Given the description of an element on the screen output the (x, y) to click on. 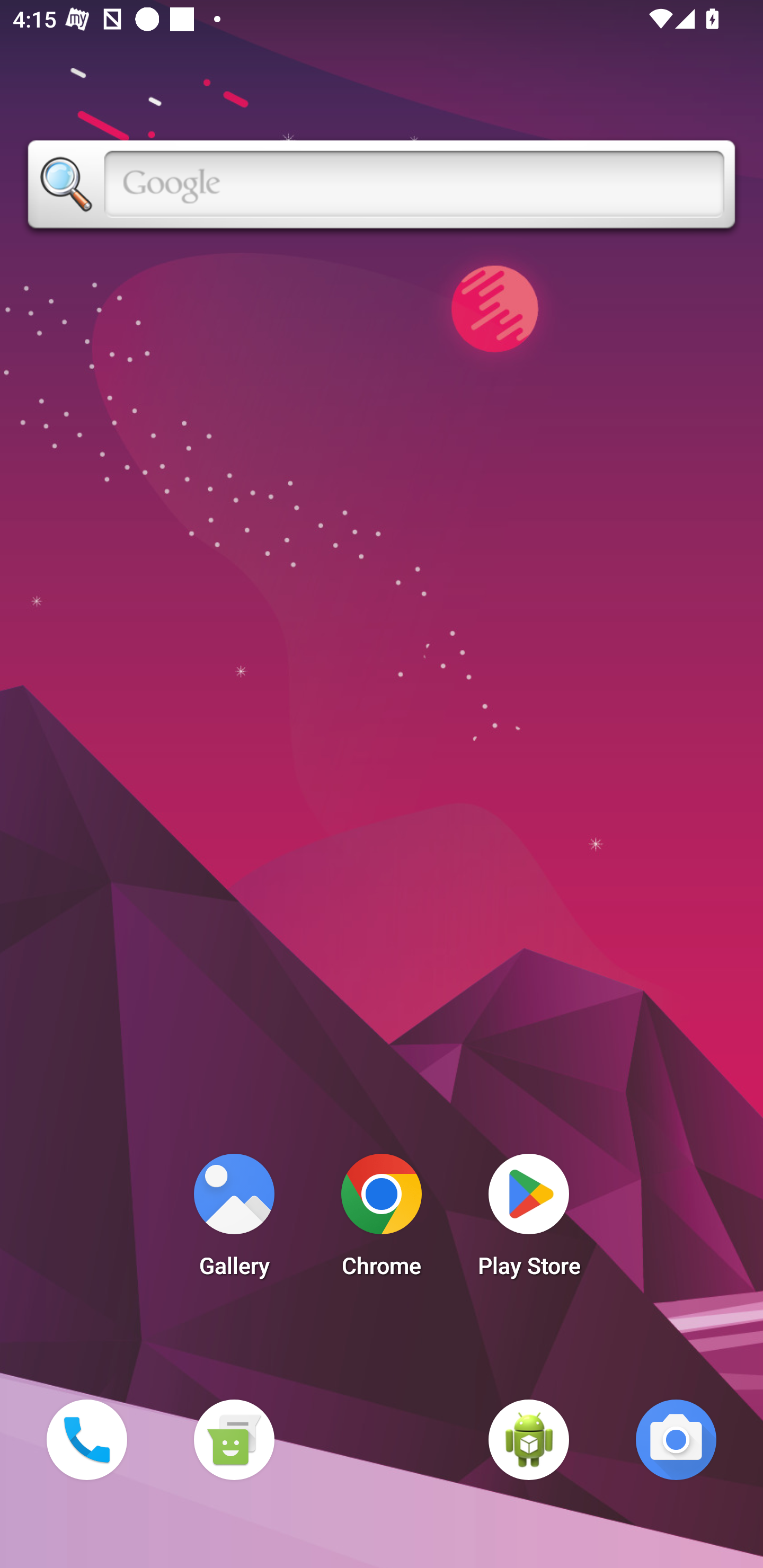
Gallery (233, 1220)
Chrome (381, 1220)
Play Store (528, 1220)
Phone (86, 1439)
Messaging (233, 1439)
WebView Browser Tester (528, 1439)
Camera (676, 1439)
